Given the description of an element on the screen output the (x, y) to click on. 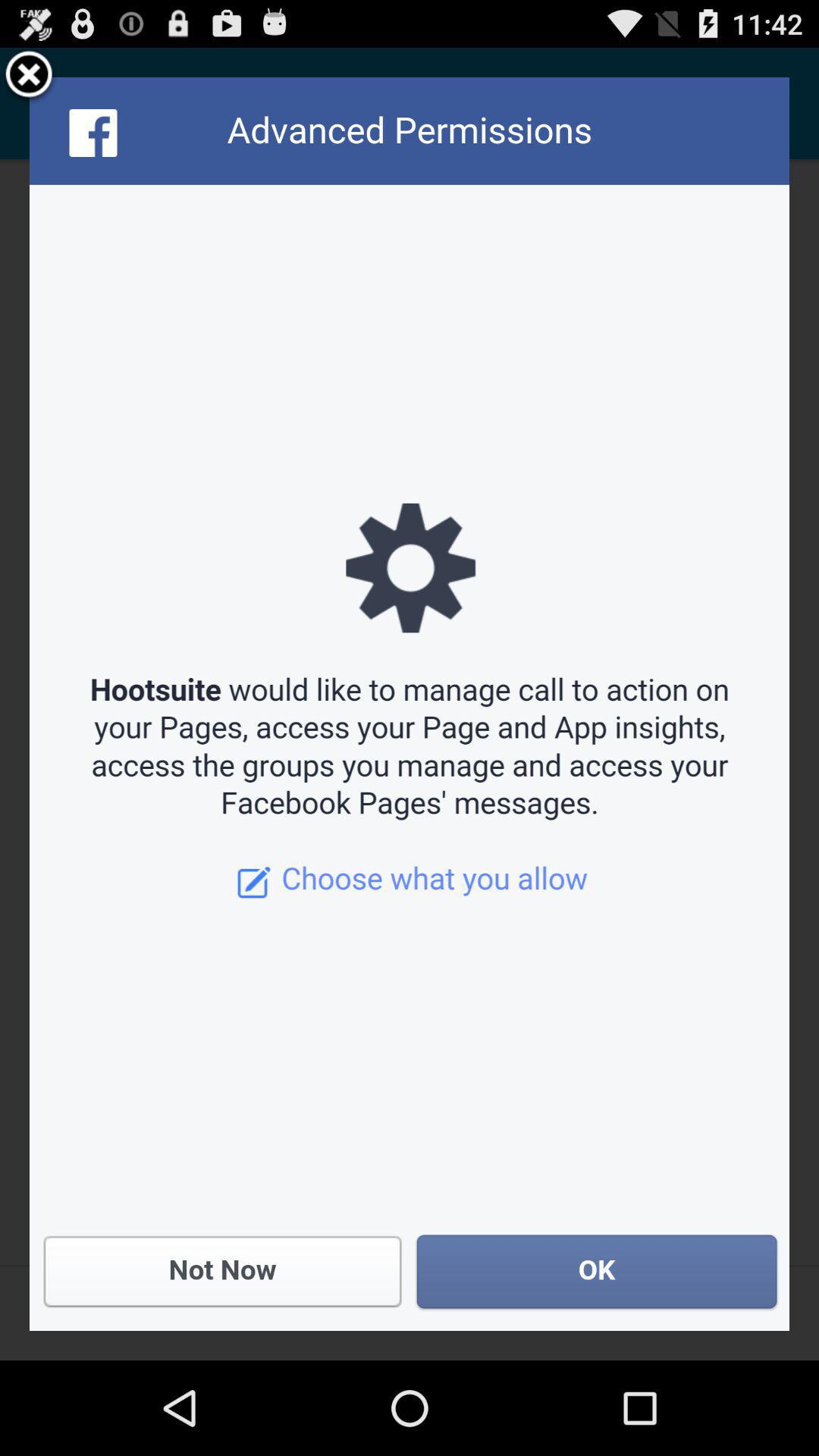
tap the item at the top left corner (29, 76)
